Given the description of an element on the screen output the (x, y) to click on. 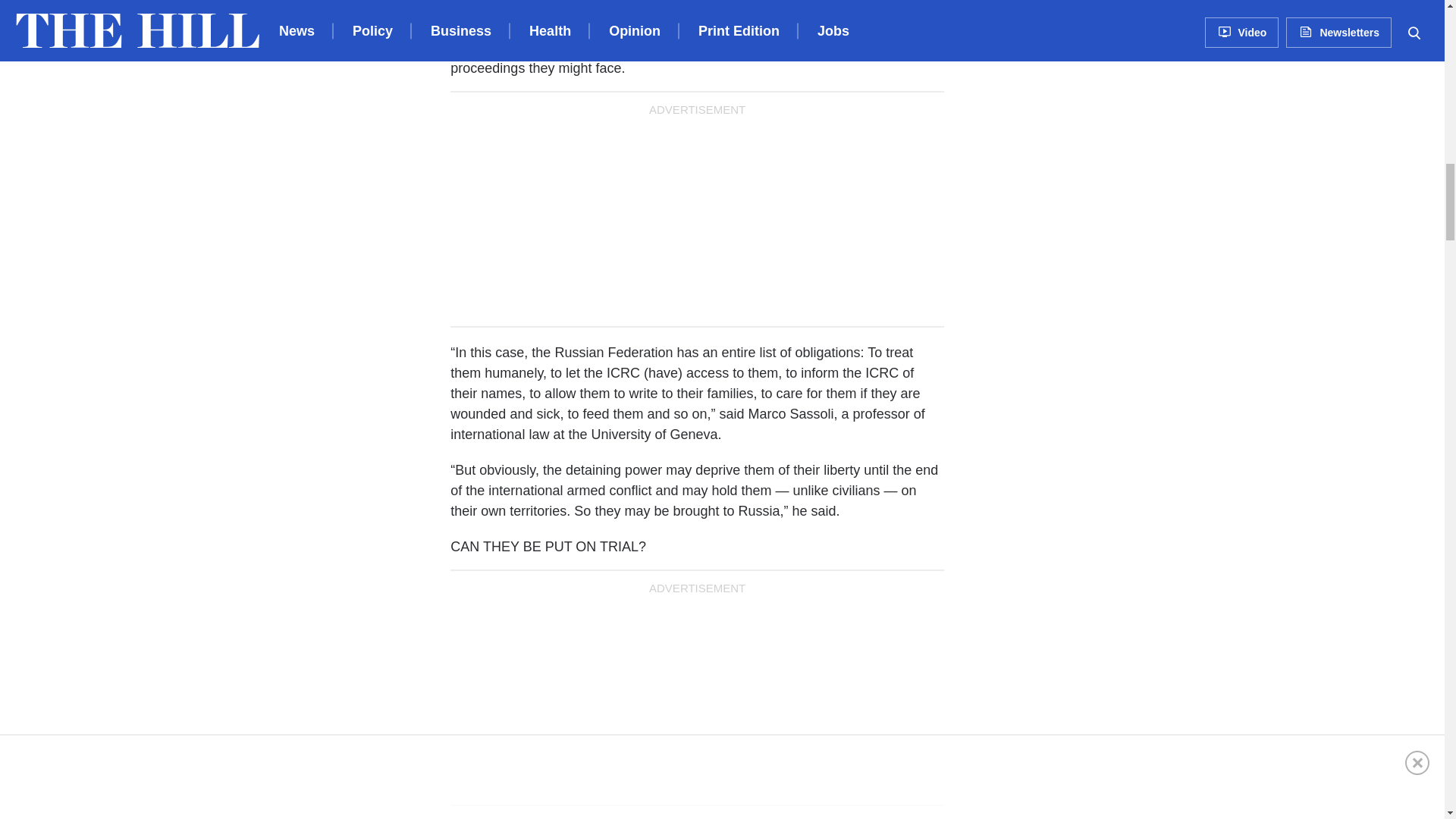
3rd party ad content (696, 696)
3rd party ad content (696, 217)
3rd party ad content (1093, 178)
